Given the description of an element on the screen output the (x, y) to click on. 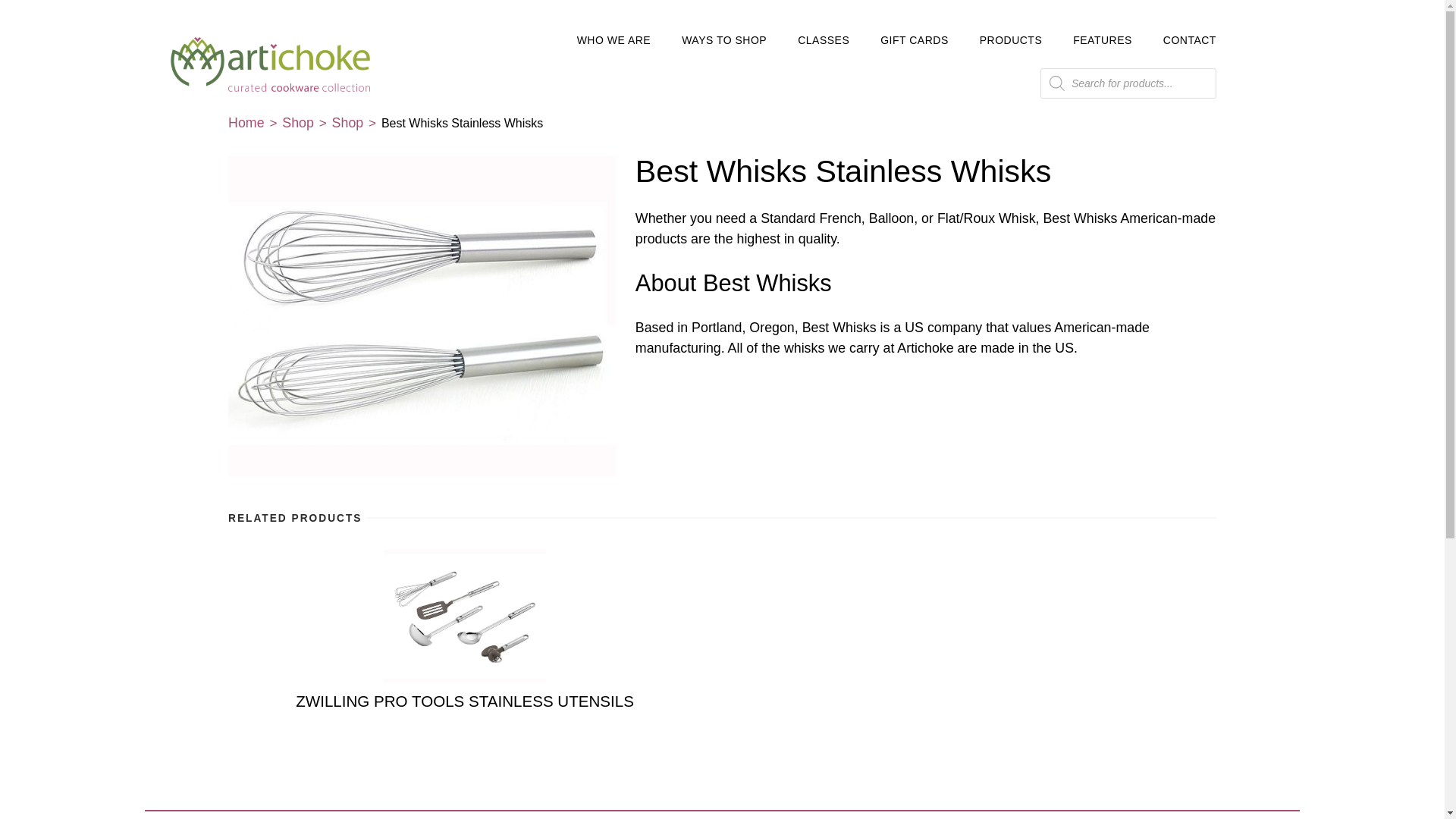
ZWILLING PRO TOOLS STAINLESS UTENSILS (464, 630)
Artichoke OTR (298, 87)
Shop (347, 122)
Home (246, 122)
CONTACT (1189, 39)
CLASSES (822, 39)
GIFT CARDS (914, 39)
Shop (298, 122)
WHO WE ARE (613, 39)
PRODUCTS (1010, 39)
WAYS TO SHOP (724, 39)
FEATURES (1102, 39)
